Given the description of an element on the screen output the (x, y) to click on. 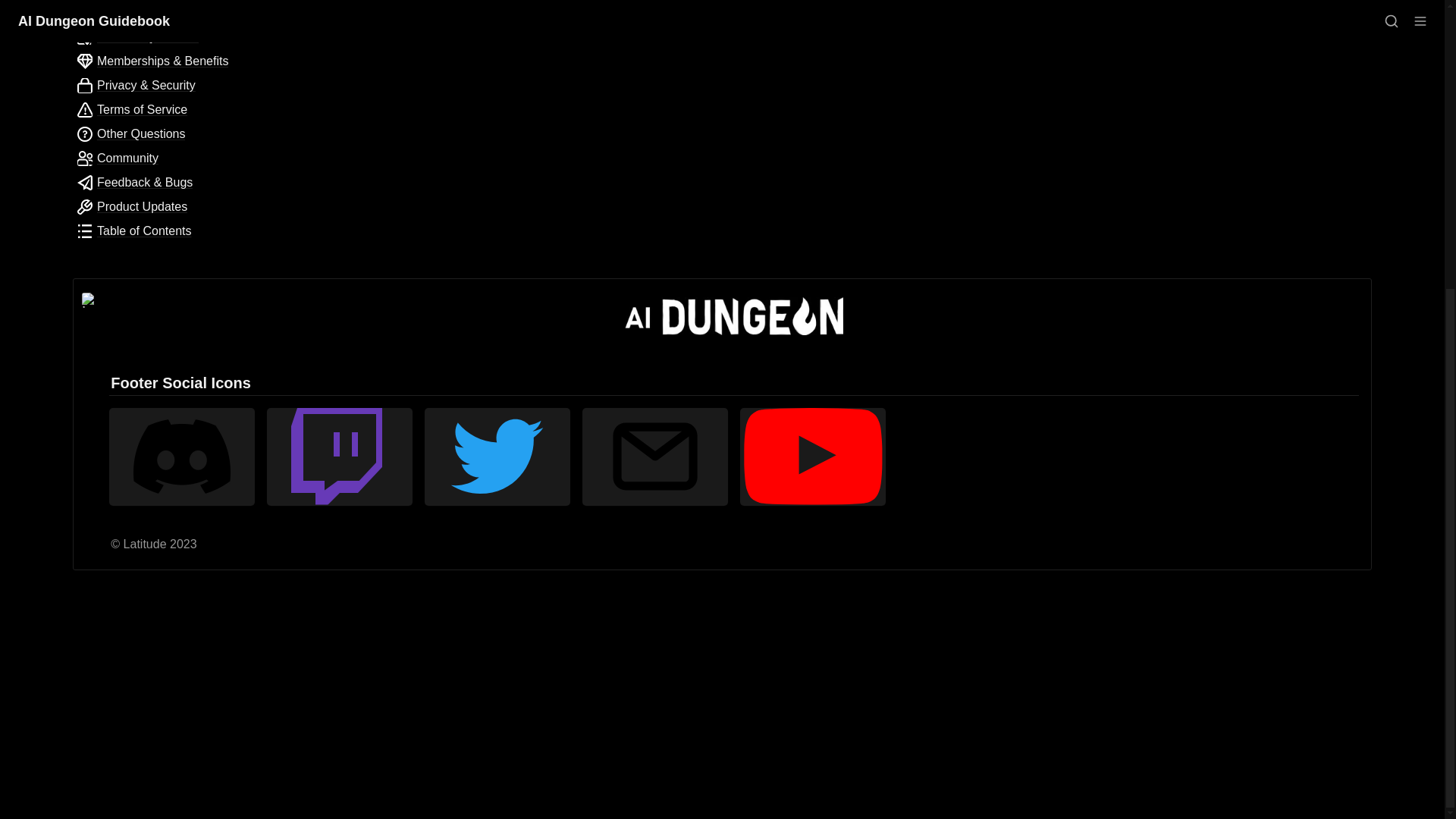
YouTube (533, 10)
Table of Contents (175, 231)
Terms of Service (175, 109)
Twitch (339, 456)
YouTube (812, 456)
Instagram (411, 10)
Product Updates (175, 206)
Discord (181, 456)
Email (655, 456)
Twitch (462, 10)
Twitter (497, 456)
Other Questions (175, 133)
Account Questions (175, 36)
Community (175, 158)
About the AI (175, 12)
